Given the description of an element on the screen output the (x, y) to click on. 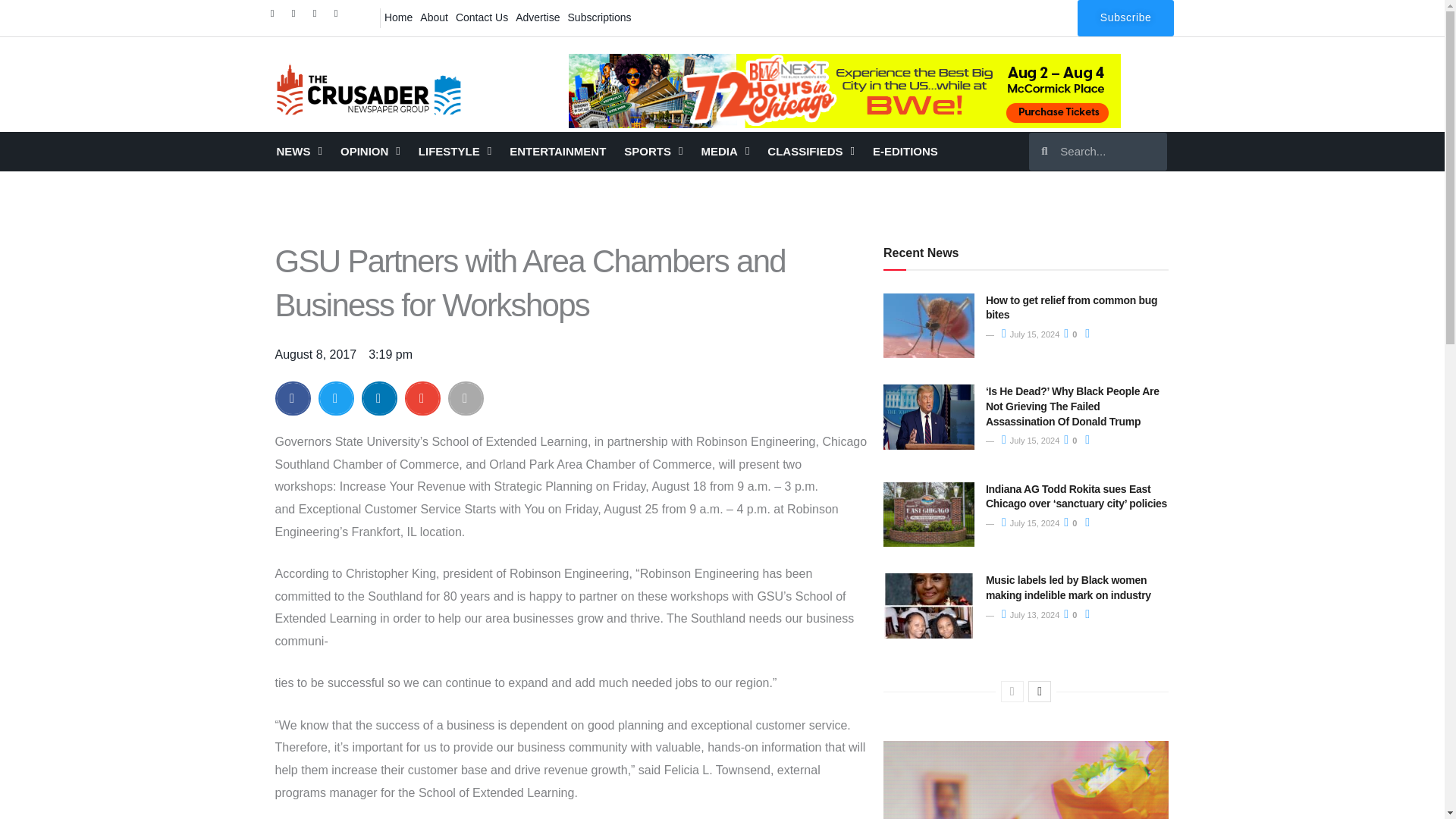
Advertise (537, 17)
Black Women's Expo-July 2024 (845, 90)
Contact Us (481, 17)
Next (1039, 690)
50th Anniversary-Lottery-RIGHT VERTICAL BANNER (1026, 780)
Instagram (318, 17)
OPINION (370, 151)
Subscribe (1125, 18)
Twitter (297, 17)
NEWS (298, 151)
Subscriptions (599, 17)
Home (398, 17)
About (433, 17)
LIFESTYLE (454, 151)
Facebook-f (276, 17)
